Given the description of an element on the screen output the (x, y) to click on. 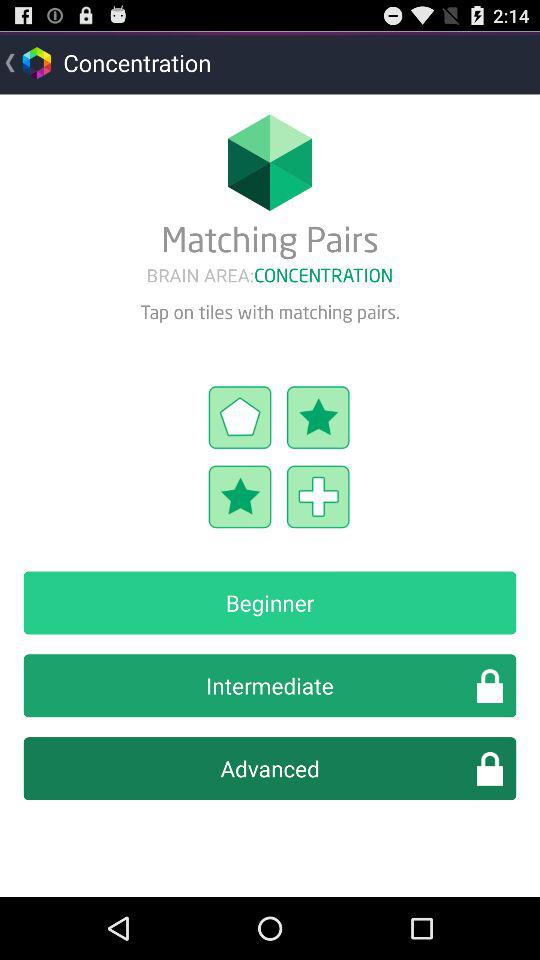
swipe to beginner icon (269, 602)
